Given the description of an element on the screen output the (x, y) to click on. 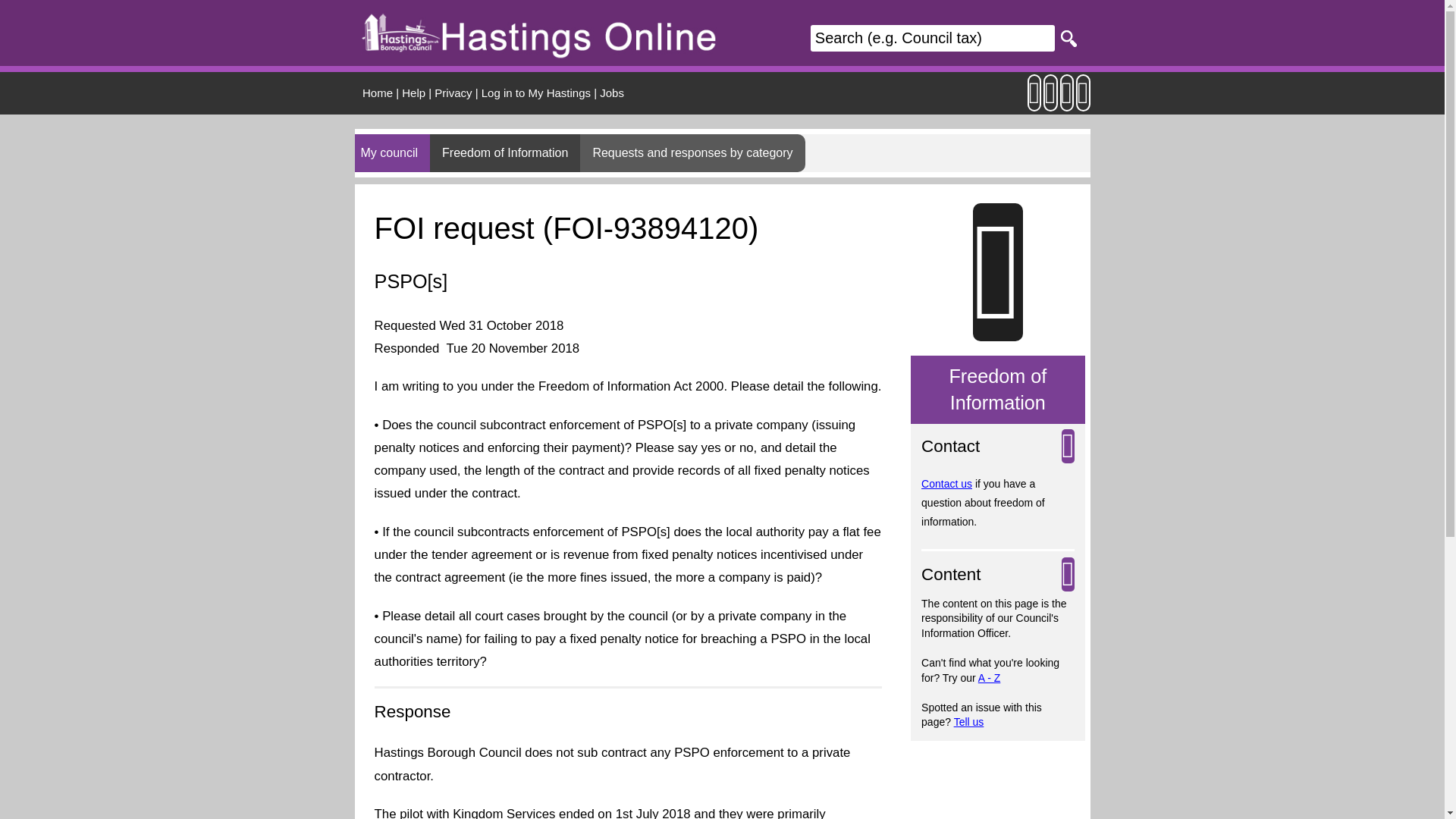
Hastings Online home page (377, 92)
Help using Hastings Online (413, 92)
Home (377, 92)
link to Hastings council Instagram (1050, 100)
Internal link to My Hastings Contact Us form (946, 483)
My council (392, 152)
Log in to My Hastings (536, 92)
Tell us (968, 721)
Hastings Online logo (539, 32)
Jobs (611, 92)
